Given the description of an element on the screen output the (x, y) to click on. 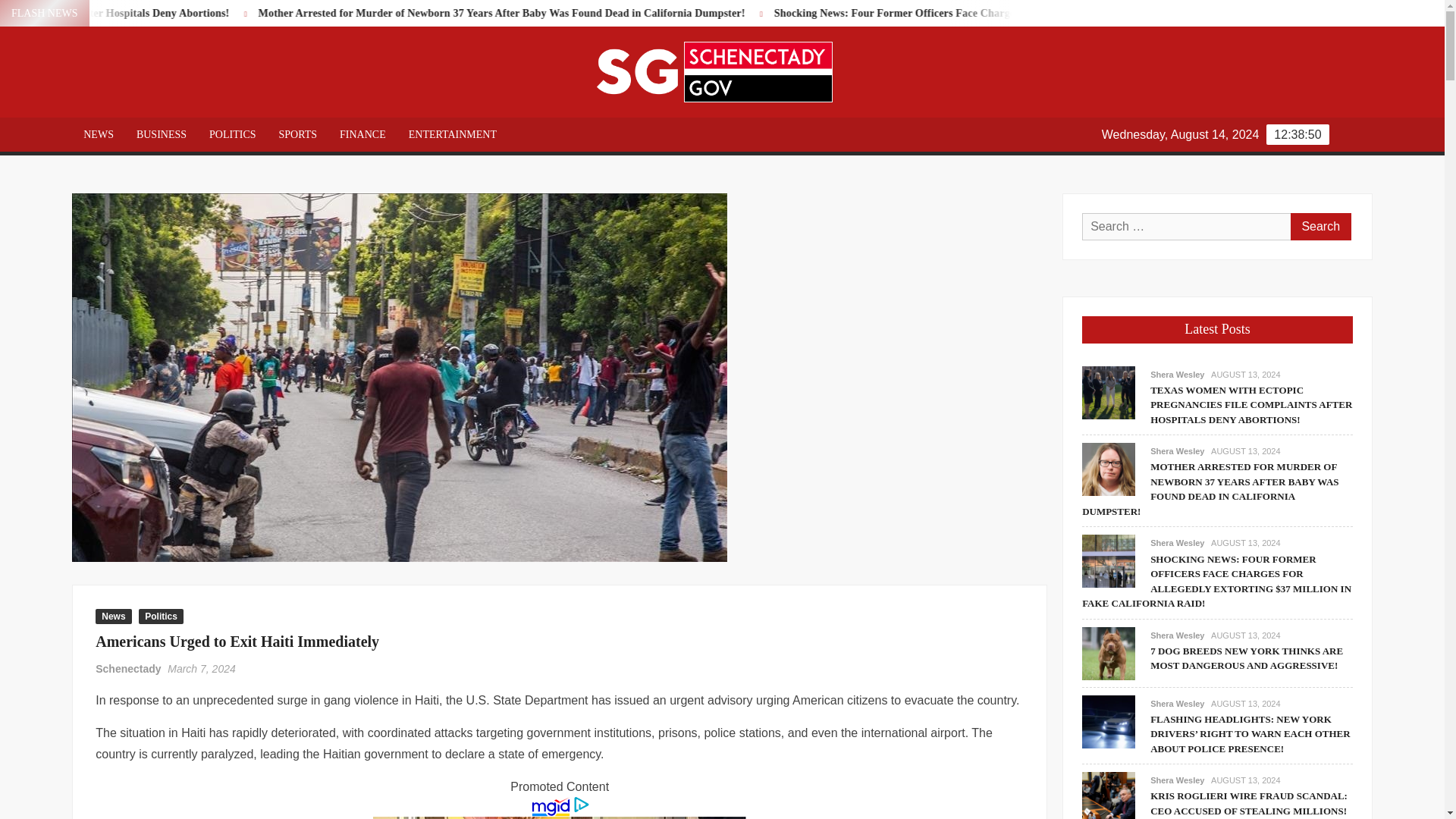
POLITICS (232, 134)
ENTERTAINMENT (452, 134)
Search (1320, 226)
BUSINESS (161, 134)
News (113, 616)
SCHENECTADY (958, 89)
Schenectady (128, 668)
